Given the description of an element on the screen output the (x, y) to click on. 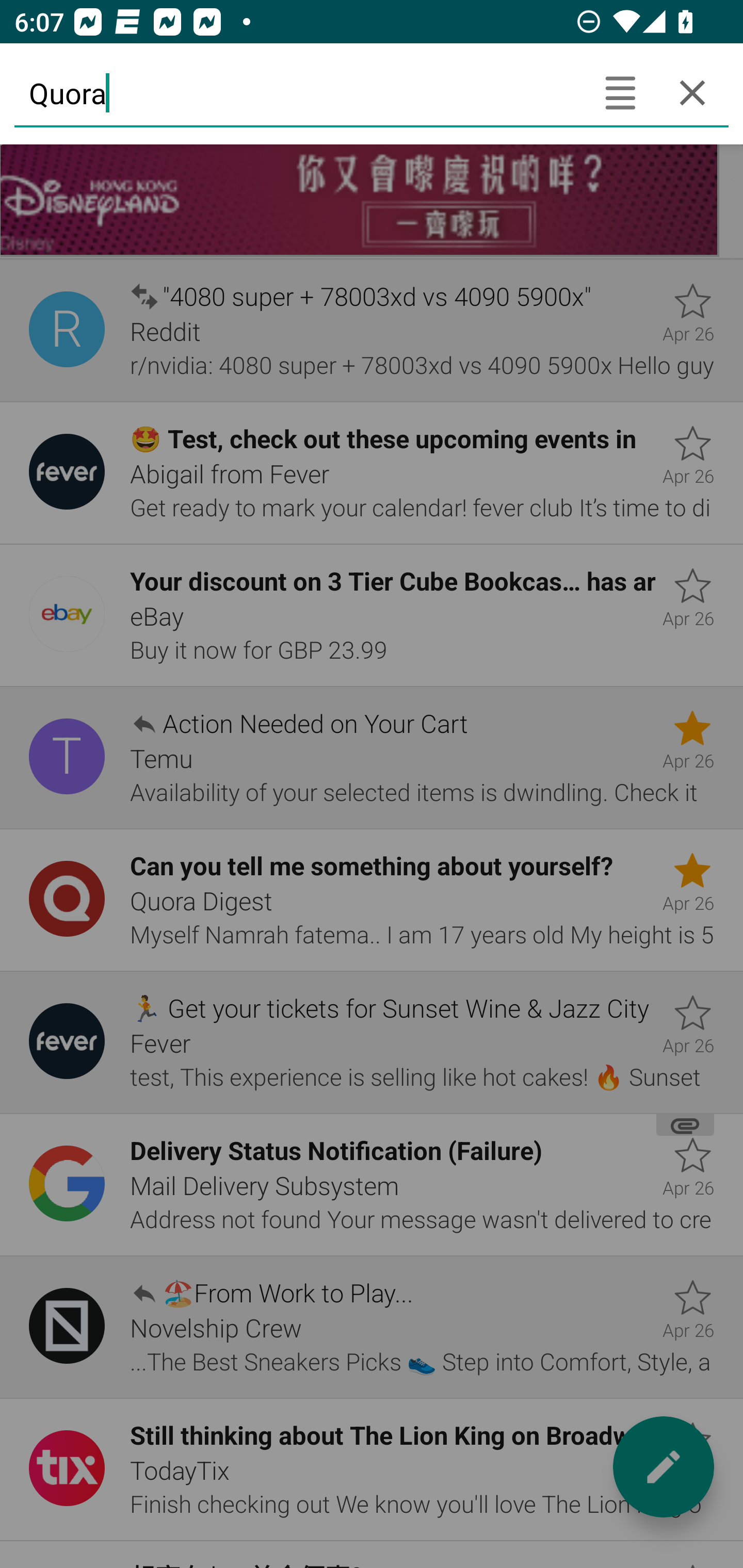
Quora (298, 92)
Search headers only (619, 92)
Cancel (692, 92)
